Given the description of an element on the screen output the (x, y) to click on. 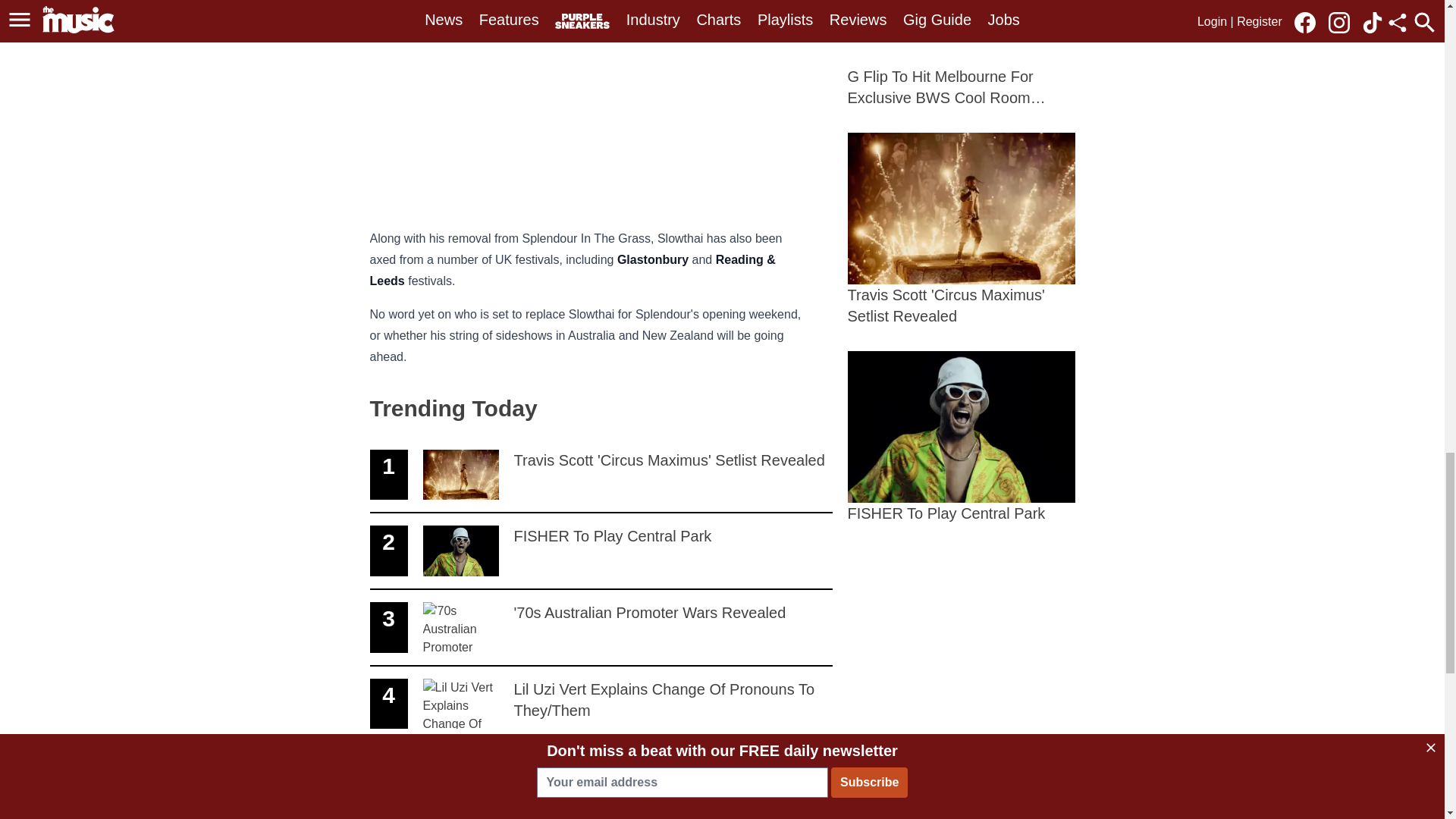
G Flip To Hit Melbourne For Exclusive BWS Cool Room Session (600, 551)
FISHER To Play Central Park (961, 54)
Travis Scott 'Circus Maximus' Setlist Revealed (600, 627)
